Given the description of an element on the screen output the (x, y) to click on. 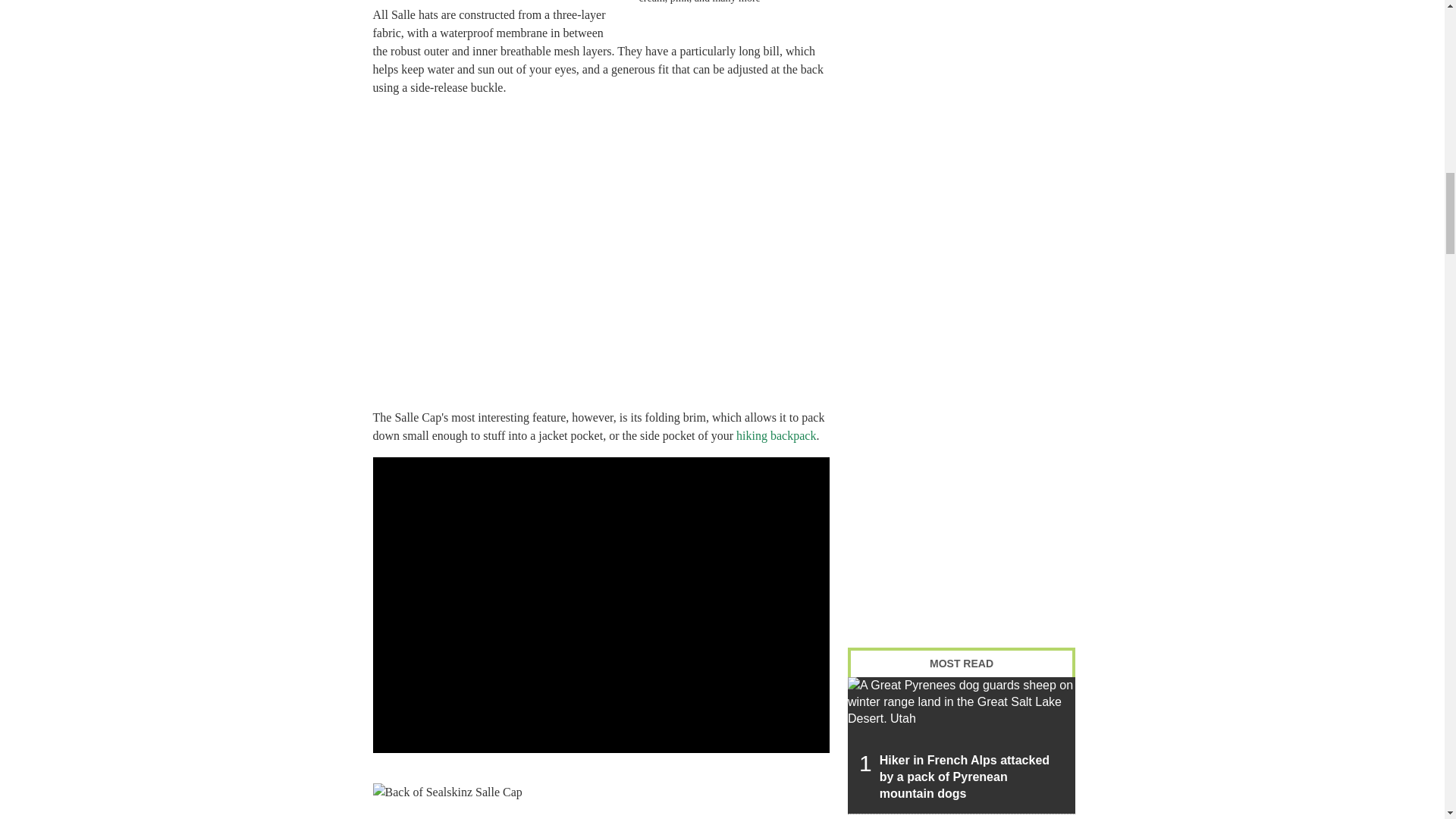
hiking backpack (775, 435)
